Given the description of an element on the screen output the (x, y) to click on. 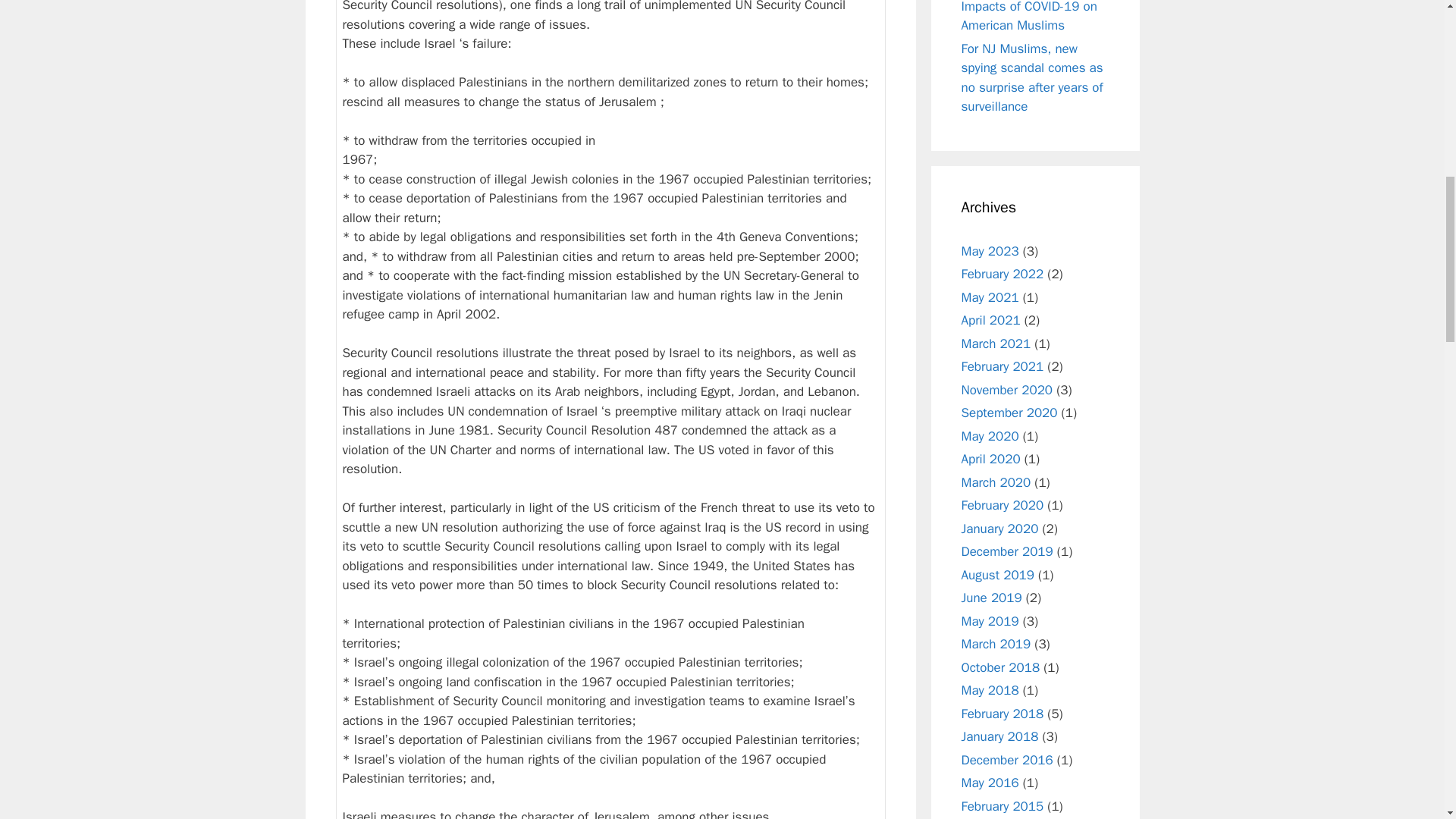
February 2022 (1001, 273)
May 2023 (989, 250)
November 2020 (1006, 390)
March 2020 (995, 482)
September 2020 (1009, 412)
April 2020 (990, 458)
May 2021 (989, 297)
February 2020 (1001, 505)
February 2021 (1001, 366)
May 2020 (989, 435)
March 2021 (995, 342)
April 2021 (990, 320)
